Given the description of an element on the screen output the (x, y) to click on. 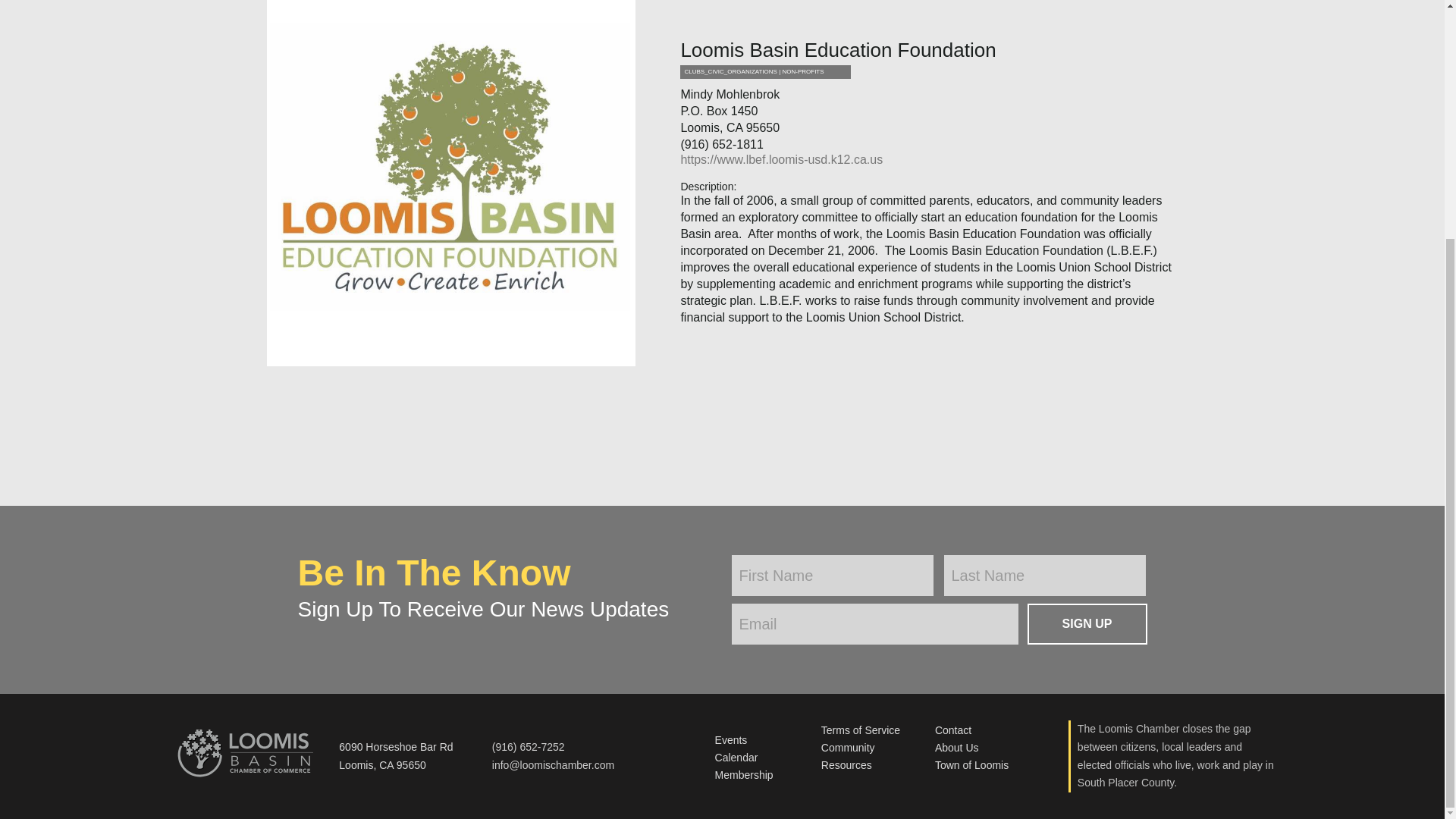
Terms of Service (860, 729)
Community (848, 747)
Events (731, 739)
SIGN UP (1086, 623)
Membership (743, 775)
Resources (846, 765)
Calendar (736, 757)
